Given the description of an element on the screen output the (x, y) to click on. 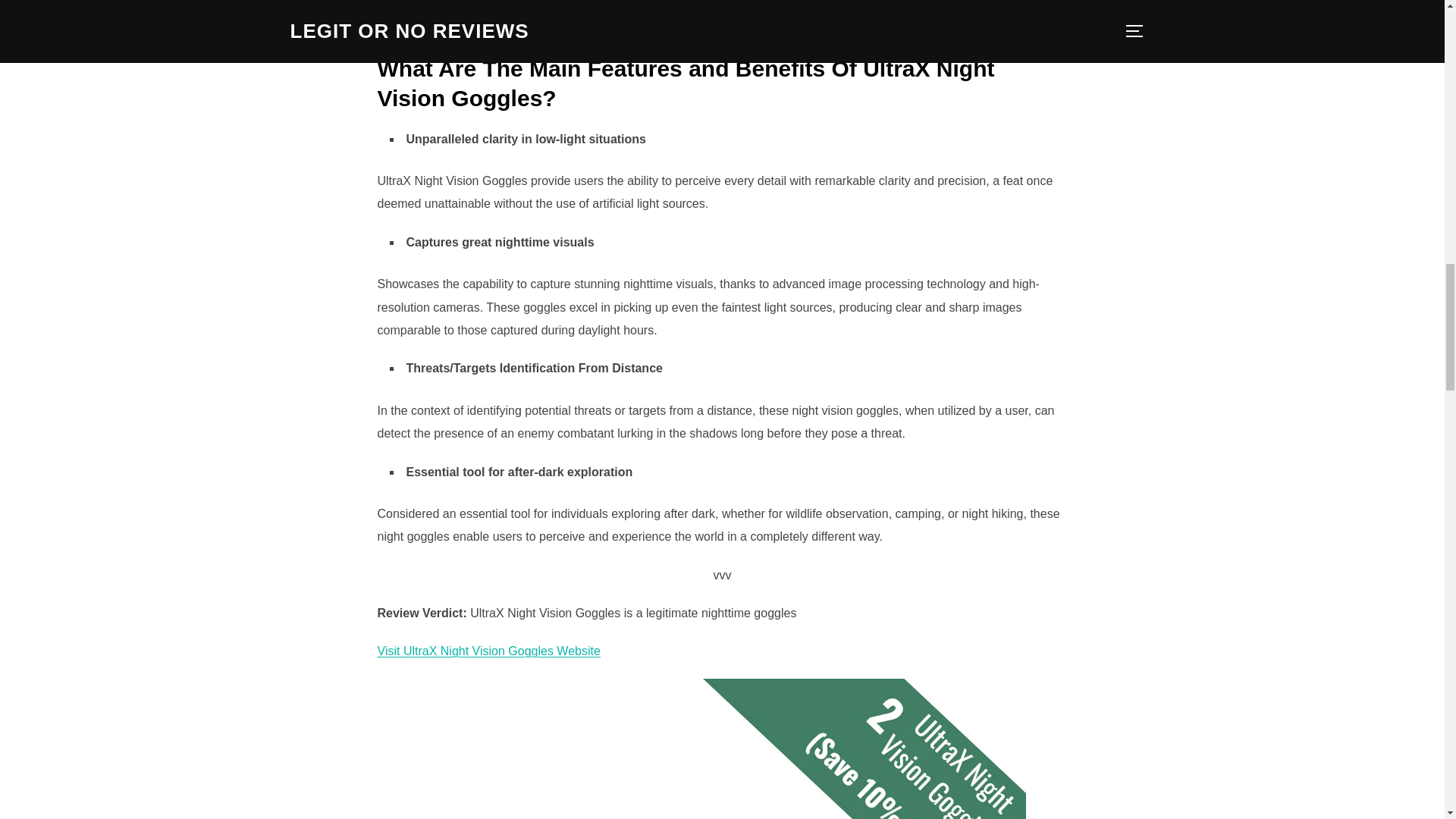
Visit UltraX Night Vision Goggles Website (488, 650)
